Given the description of an element on the screen output the (x, y) to click on. 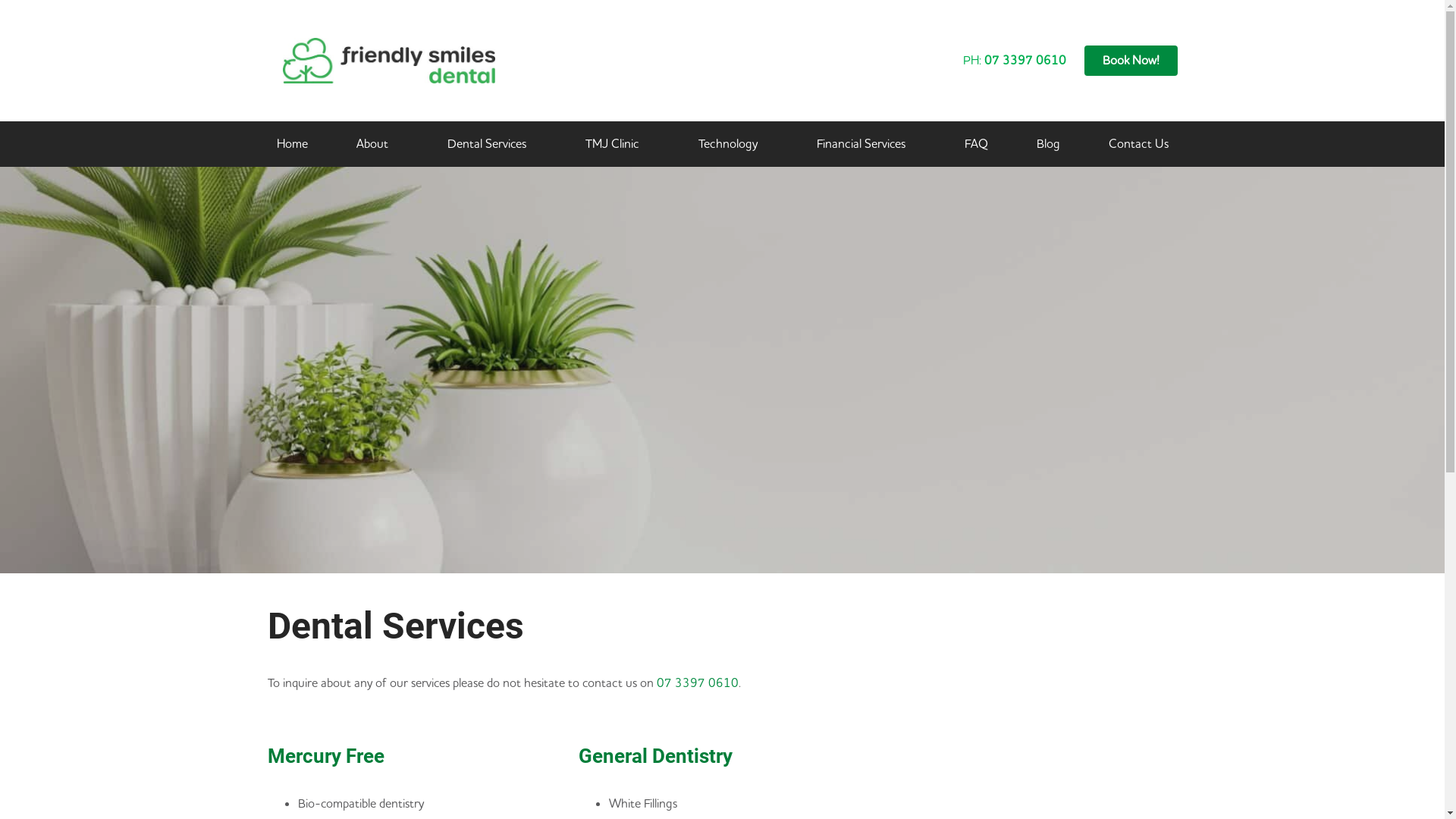
07 3397 0610 Element type: text (697, 682)
TMJ Clinic Element type: text (617, 143)
PH: 07 3397 0610 Element type: text (1014, 60)
Dental Services Element type: text (492, 143)
FAQ Element type: text (976, 143)
Friendly Smiles Dental Element type: hover (1055, 686)
Contact Us Element type: text (1138, 143)
Technology Element type: text (732, 143)
About Element type: text (377, 143)
Book Now! Element type: text (1130, 60)
Financial Services Element type: text (865, 143)
Blog Element type: text (1047, 143)
Home Element type: text (291, 143)
